Given the description of an element on the screen output the (x, y) to click on. 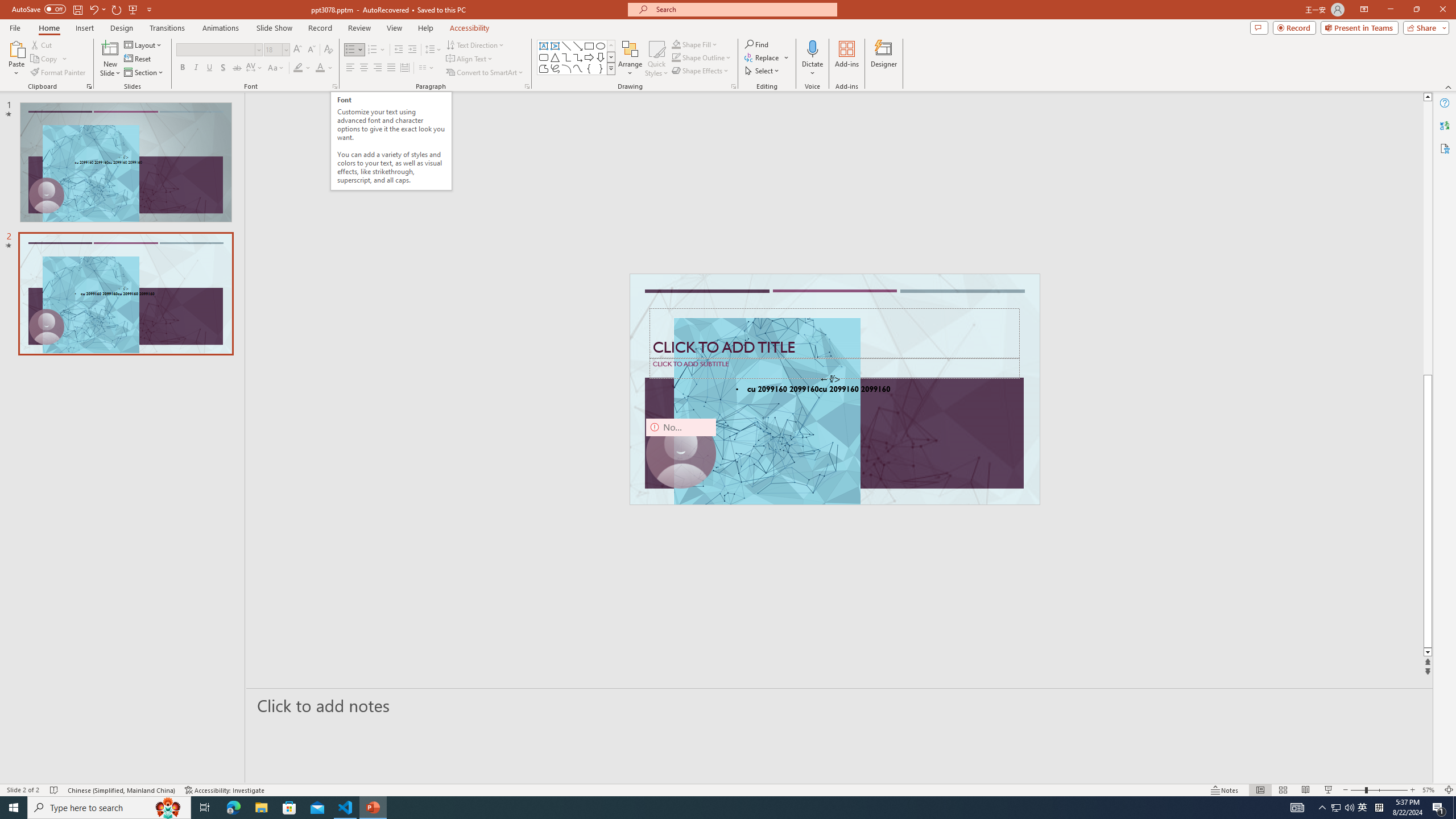
System (6, 6)
Collapse the Ribbon (1448, 86)
Dictate (812, 48)
System (6, 6)
New Slide (110, 48)
Line Arrow (577, 45)
Line (566, 45)
Slide Show (1328, 790)
Notes  (1225, 790)
Zoom (1379, 790)
Strikethrough (237, 67)
Slide (125, 293)
Zoom to Fit  (1449, 790)
AutomationID: ShapesInsertGallery (576, 57)
